Given the description of an element on the screen output the (x, y) to click on. 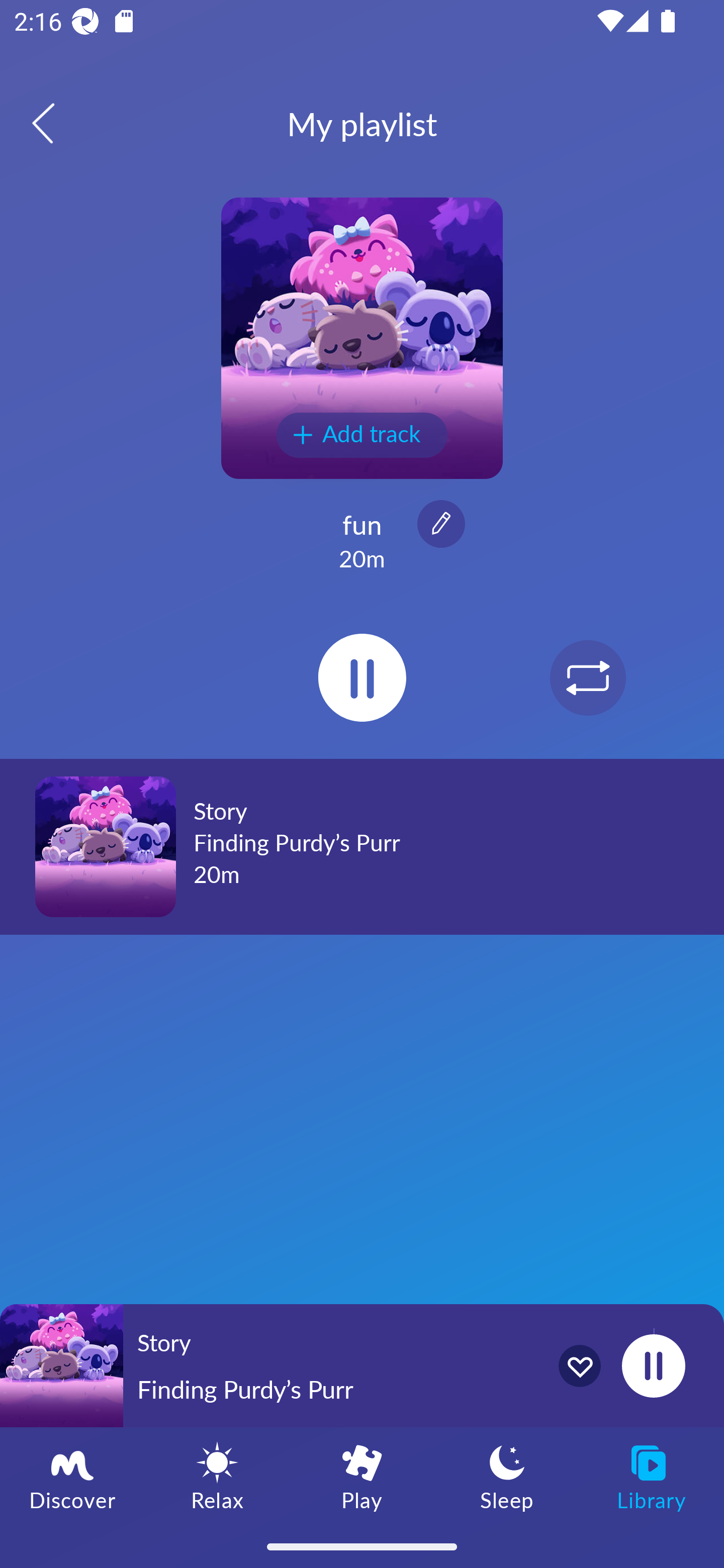
Add track (361, 434)
Story Finding Purdy’s Purr 20m (362, 846)
Story Finding Purdy’s Purr 0.0016022276 Pause (362, 1365)
0.0016022276 Pause (653, 1365)
Discover (72, 1475)
Relax (216, 1475)
Play (361, 1475)
Sleep (506, 1475)
